Given the description of an element on the screen output the (x, y) to click on. 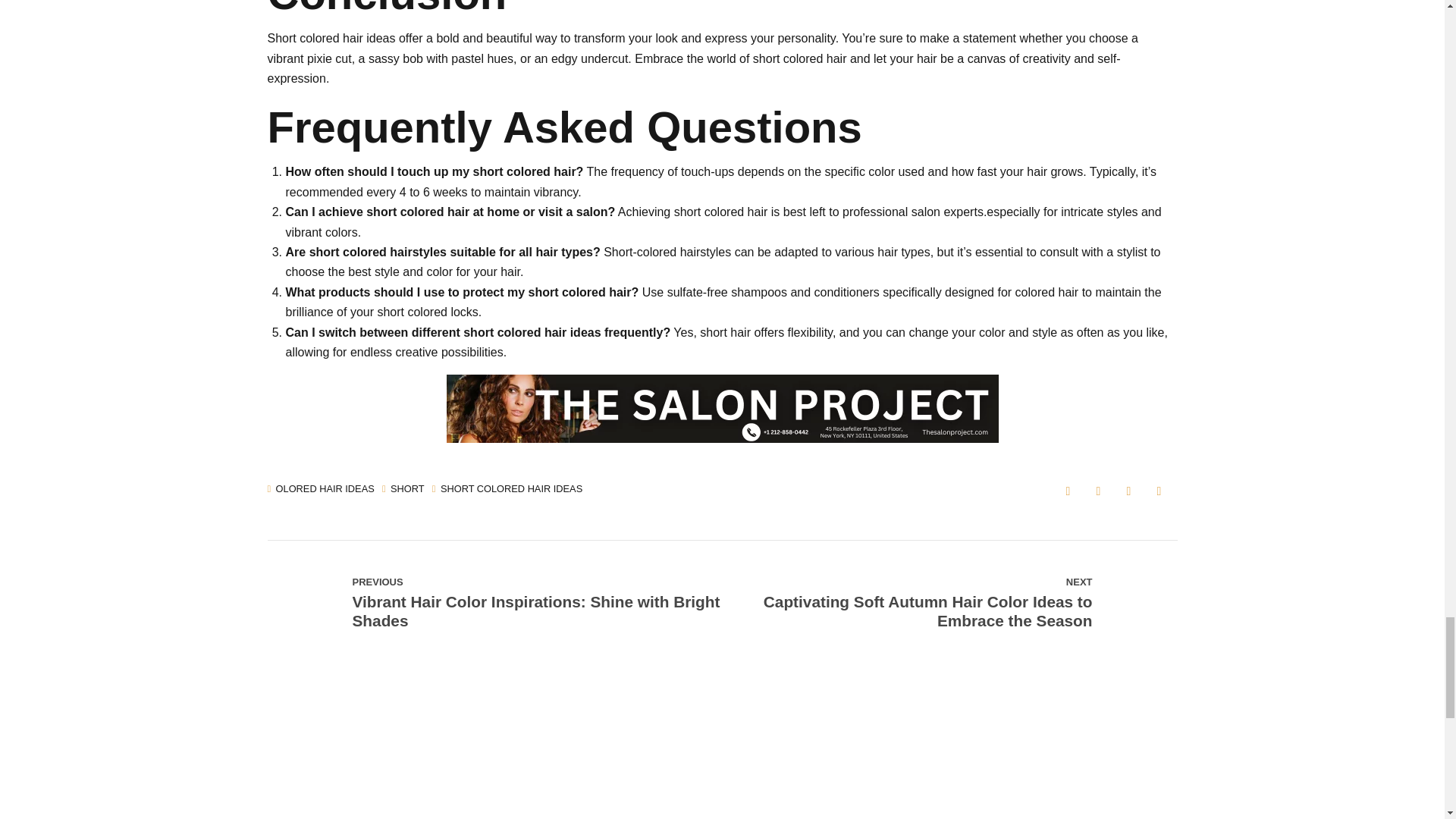
Share on Linkedin (1128, 491)
SHORT (403, 489)
SHORT COLORED HAIR IDEAS (507, 489)
Share on WhatsApp (1158, 491)
Share on Twitter (1097, 491)
OLORED HAIR IDEAS (320, 489)
Share on Facebook (1067, 491)
